Given the description of an element on the screen output the (x, y) to click on. 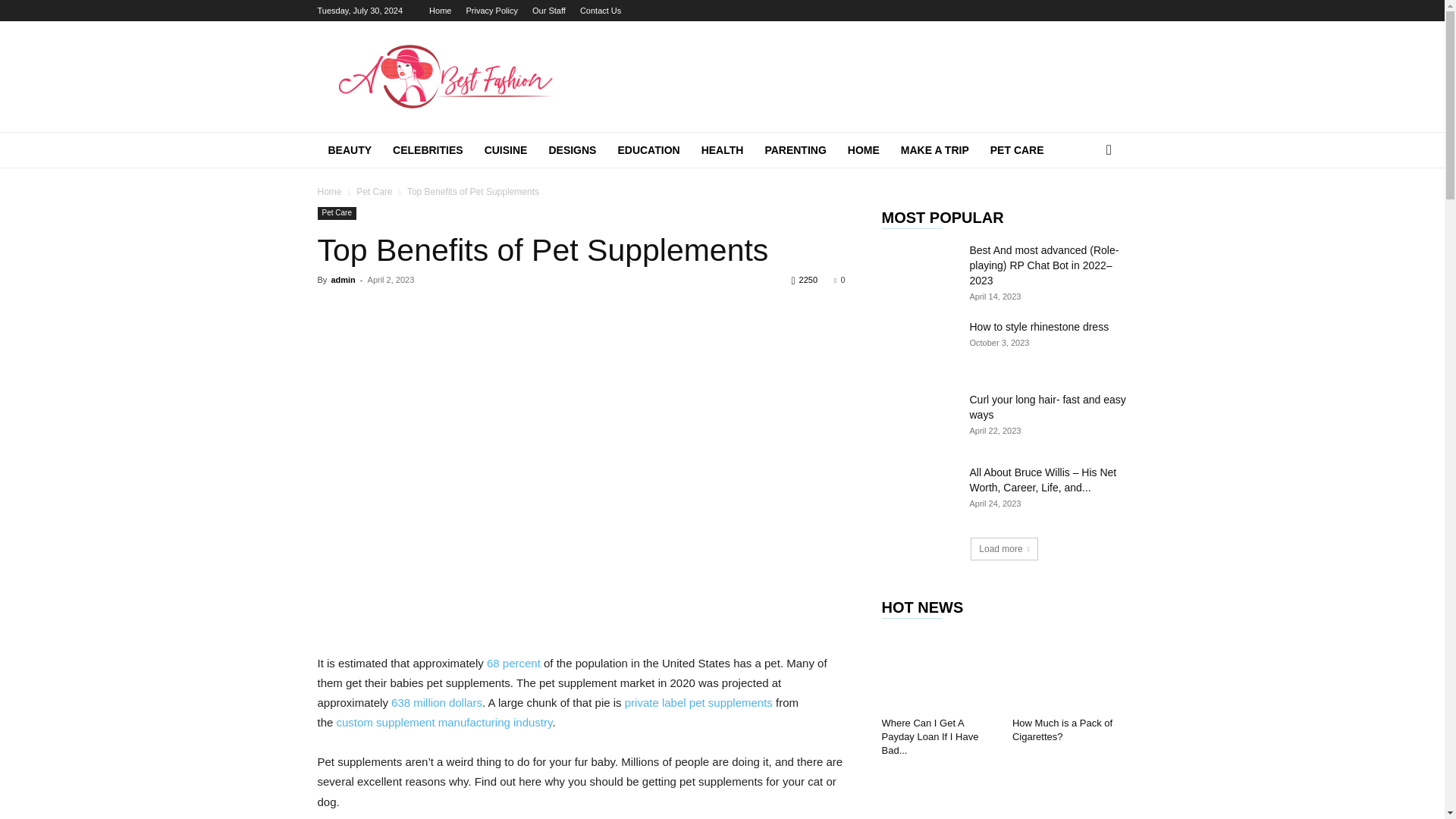
View all posts in Pet Care (373, 191)
